Given the description of an element on the screen output the (x, y) to click on. 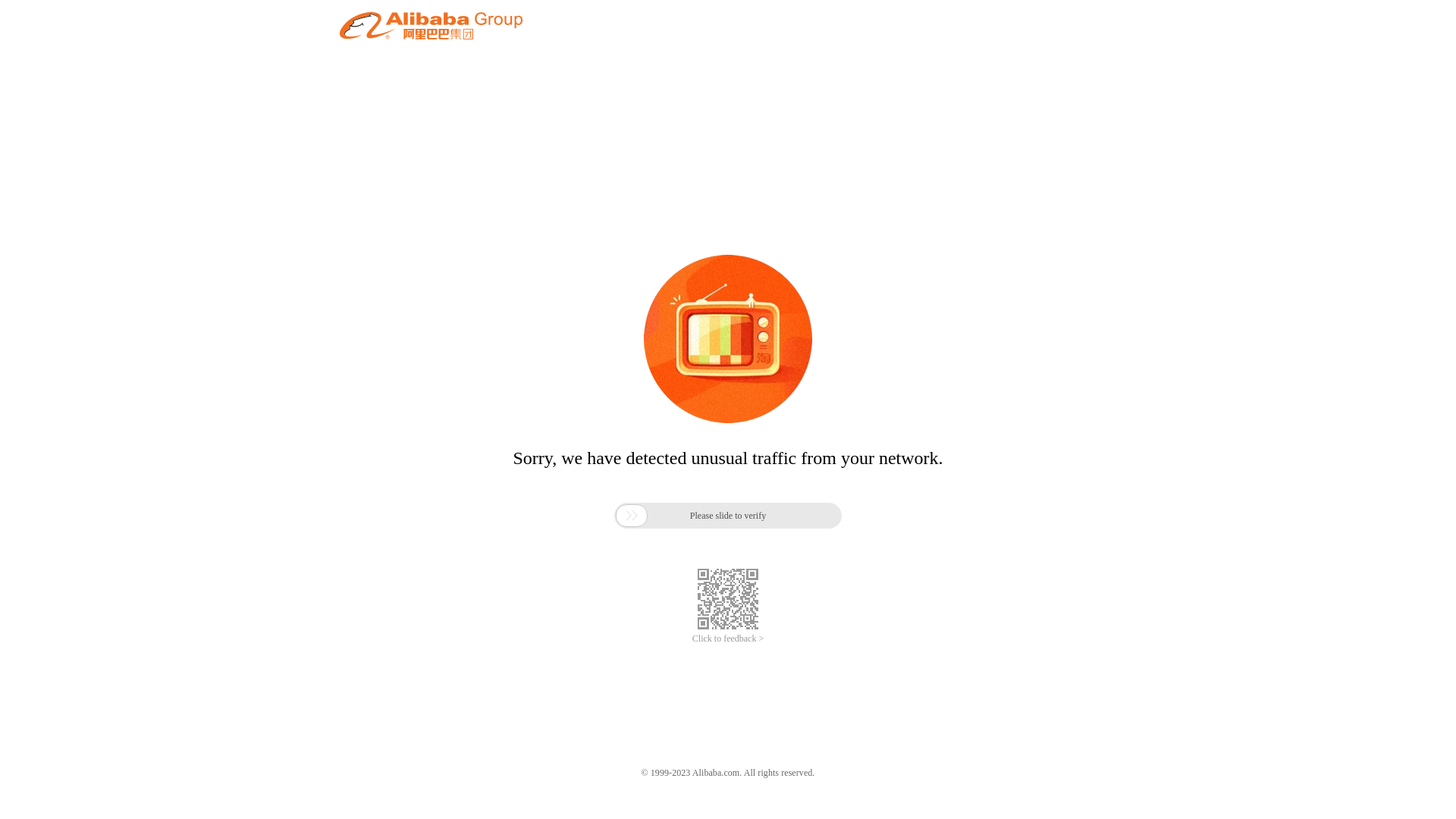
Click to feedback > Element type: text (727, 638)
